Given the description of an element on the screen output the (x, y) to click on. 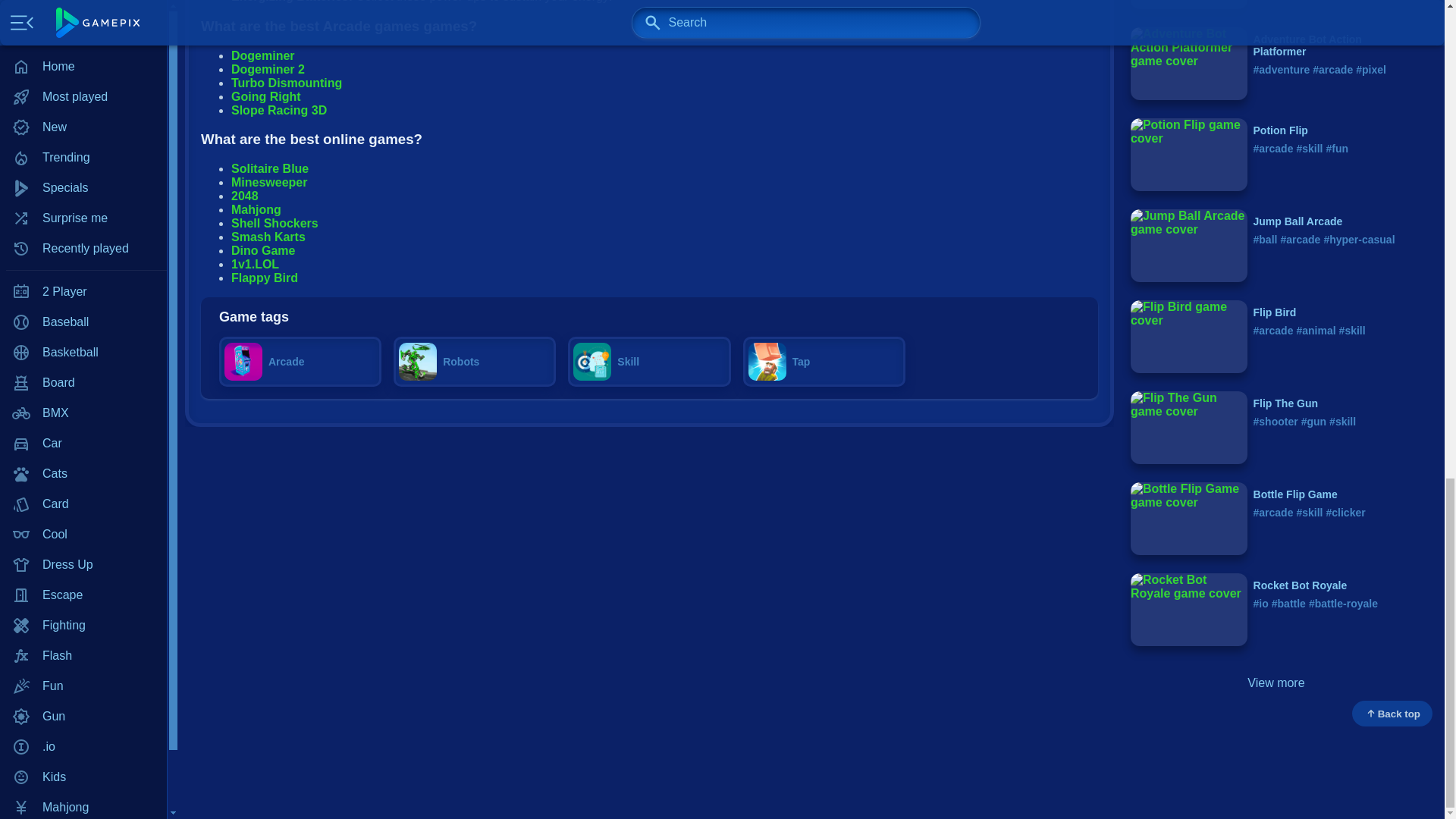
Word (83, 13)
Zombie (83, 41)
